Given the description of an element on the screen output the (x, y) to click on. 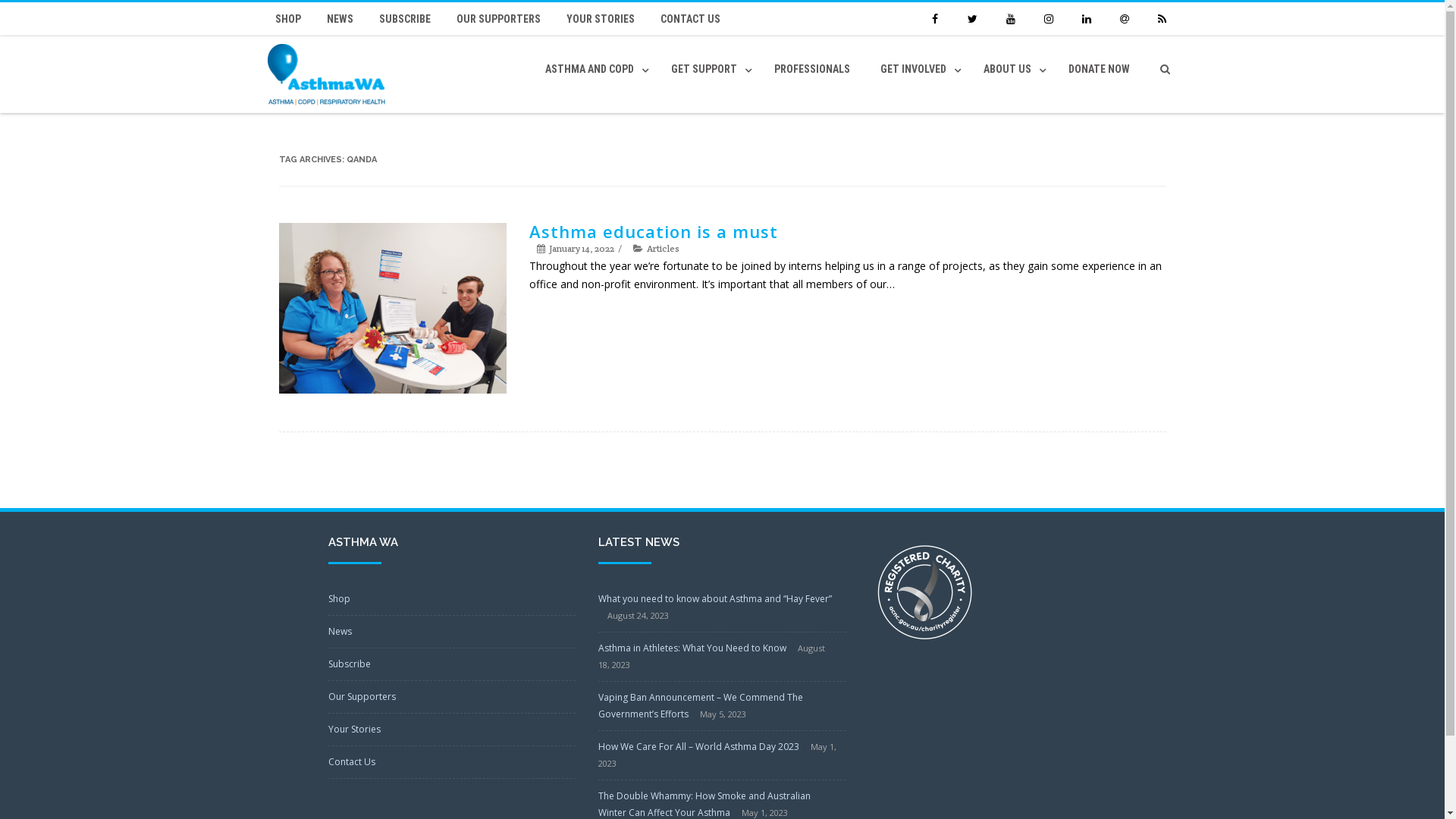
ABOUT US Element type: text (1009, 68)
Contact Us Element type: text (350, 761)
Email Element type: hover (1123, 18)
GET SUPPORT Element type: text (706, 68)
Shop Element type: text (338, 598)
Twitter Element type: hover (972, 18)
CONTACT US Element type: text (689, 18)
RSS Element type: hover (1161, 18)
Asthma WA Element type: hover (329, 74)
NEWS Element type: text (338, 18)
Linkedin Element type: hover (1085, 18)
Asthma education is a must Element type: text (653, 230)
SUBSCRIBE Element type: text (404, 18)
Youtube Element type: hover (1009, 18)
Instagram Element type: hover (1047, 18)
OUR SUPPORTERS Element type: text (498, 18)
DONATE NOW Element type: text (1098, 68)
GET INVOLVED Element type: text (915, 68)
Subscribe Element type: text (348, 663)
ASTHMA AND COPD Element type: text (592, 68)
Your Stories Element type: text (353, 728)
Asthma in Athletes: What You Need to Know Element type: text (692, 647)
News Element type: text (339, 630)
YOUR STORIES Element type: text (599, 18)
PROFESSIONALS Element type: text (811, 68)
Our Supporters Element type: text (361, 696)
SHOP Element type: text (291, 18)
Facebook Element type: hover (934, 18)
Articles Element type: text (662, 248)
